Given the description of an element on the screen output the (x, y) to click on. 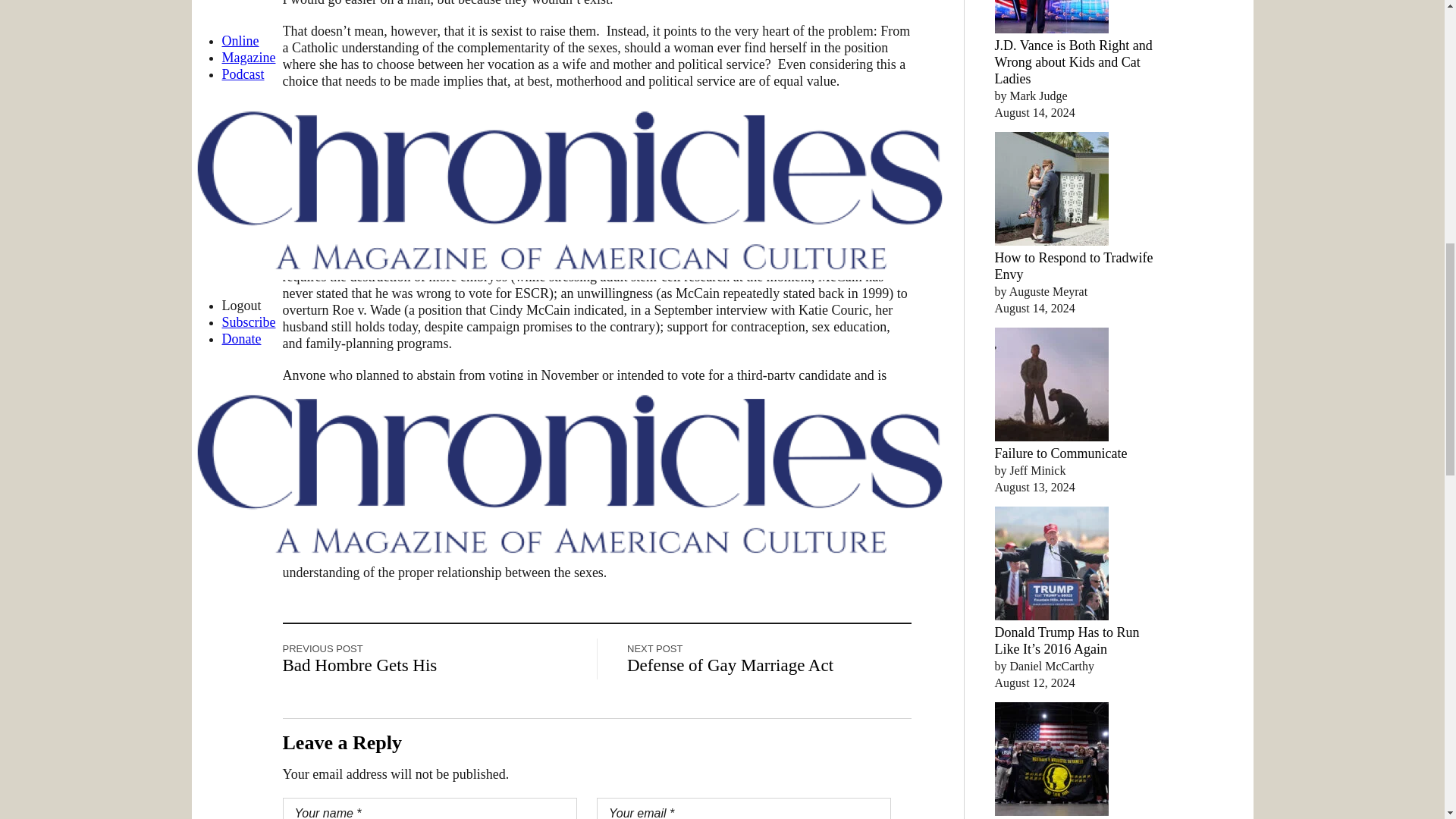
Failure to Communicate (1060, 453)
Bad Hombre Gets His (359, 665)
Defense of Gay Marriage Act (729, 665)
J.D. Vance is Both Right and Wrong about Kids and Cat Ladies (1073, 61)
How to Respond to Tradwife Envy (1073, 265)
